Given the description of an element on the screen output the (x, y) to click on. 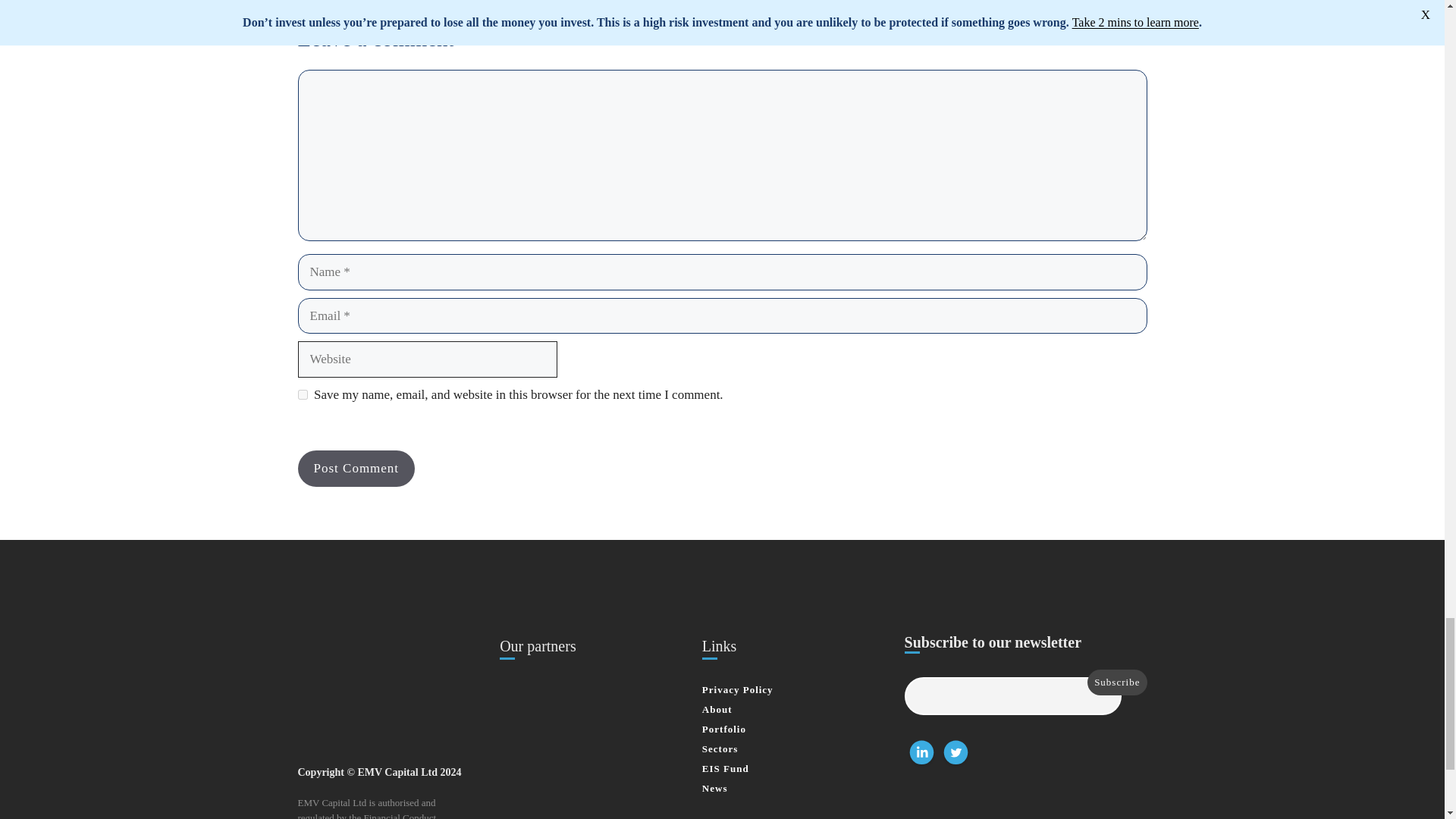
EIS Fund (725, 767)
Subscribe (1117, 682)
Post Comment (355, 468)
About (716, 708)
Subscribe (1117, 682)
yes (302, 394)
Sectors (719, 748)
Post Comment (355, 468)
News (714, 787)
Portfolio (723, 728)
Privacy Policy (737, 689)
